Given the description of an element on the screen output the (x, y) to click on. 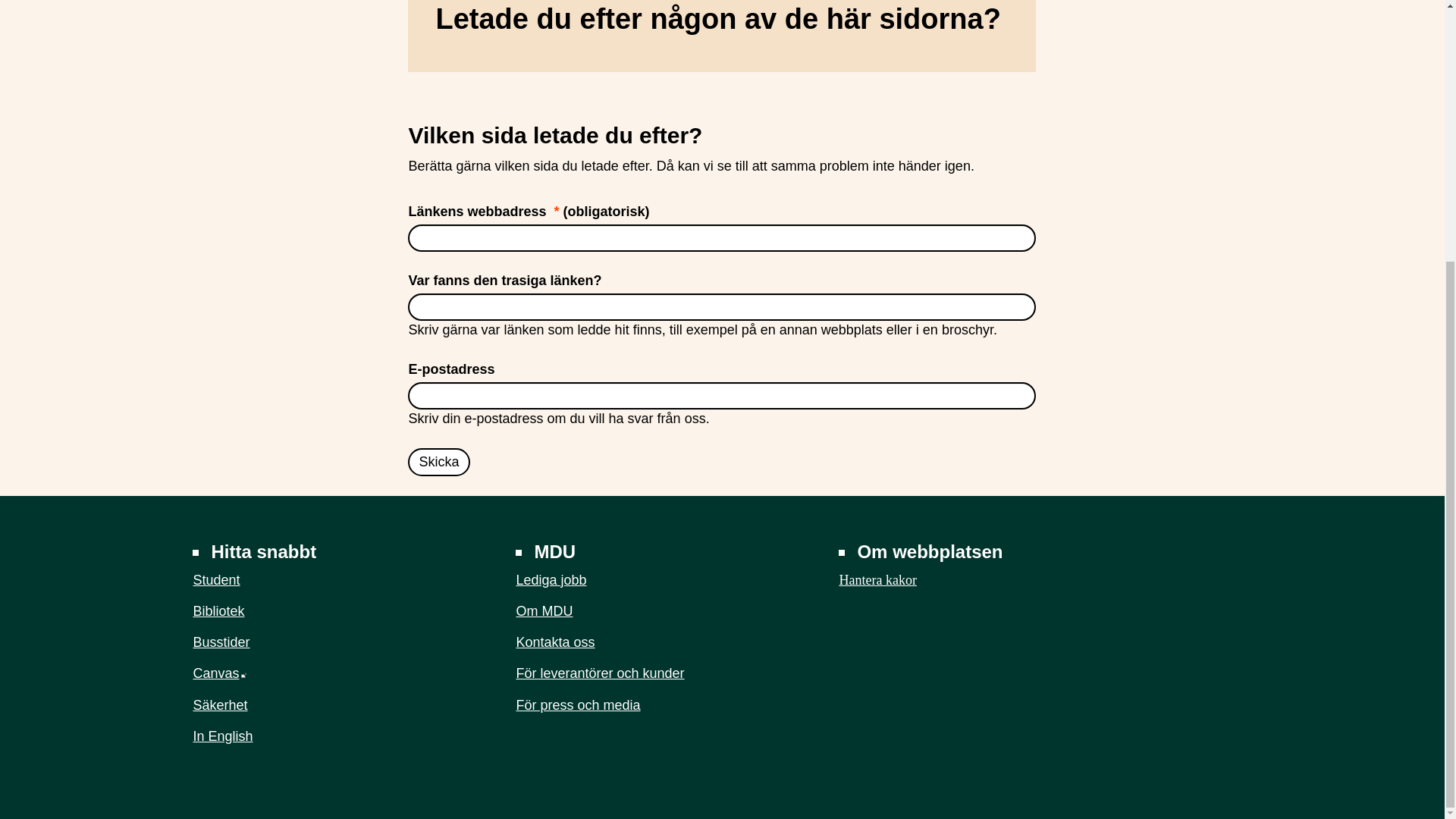
Skicka (437, 461)
Skicka (437, 461)
Lediga jobb (550, 580)
Busstider (220, 642)
Bibliotek (218, 611)
Om MDU (543, 611)
Kontakta oss (554, 642)
Student (216, 580)
Hantera kakor (876, 579)
In English (221, 735)
